Given the description of an element on the screen output the (x, y) to click on. 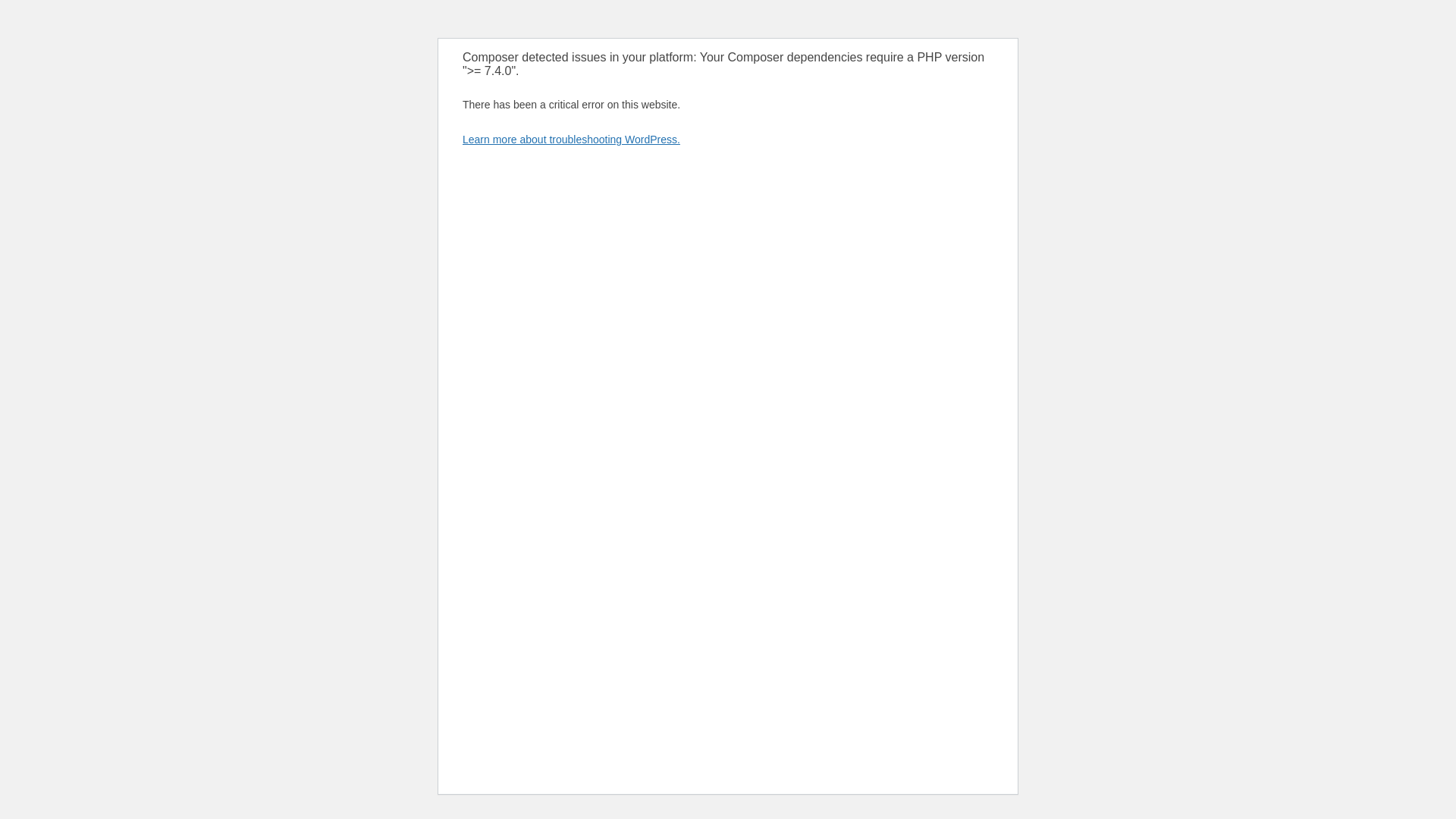
Learn more about troubleshooting WordPress. (571, 139)
